Given the description of an element on the screen output the (x, y) to click on. 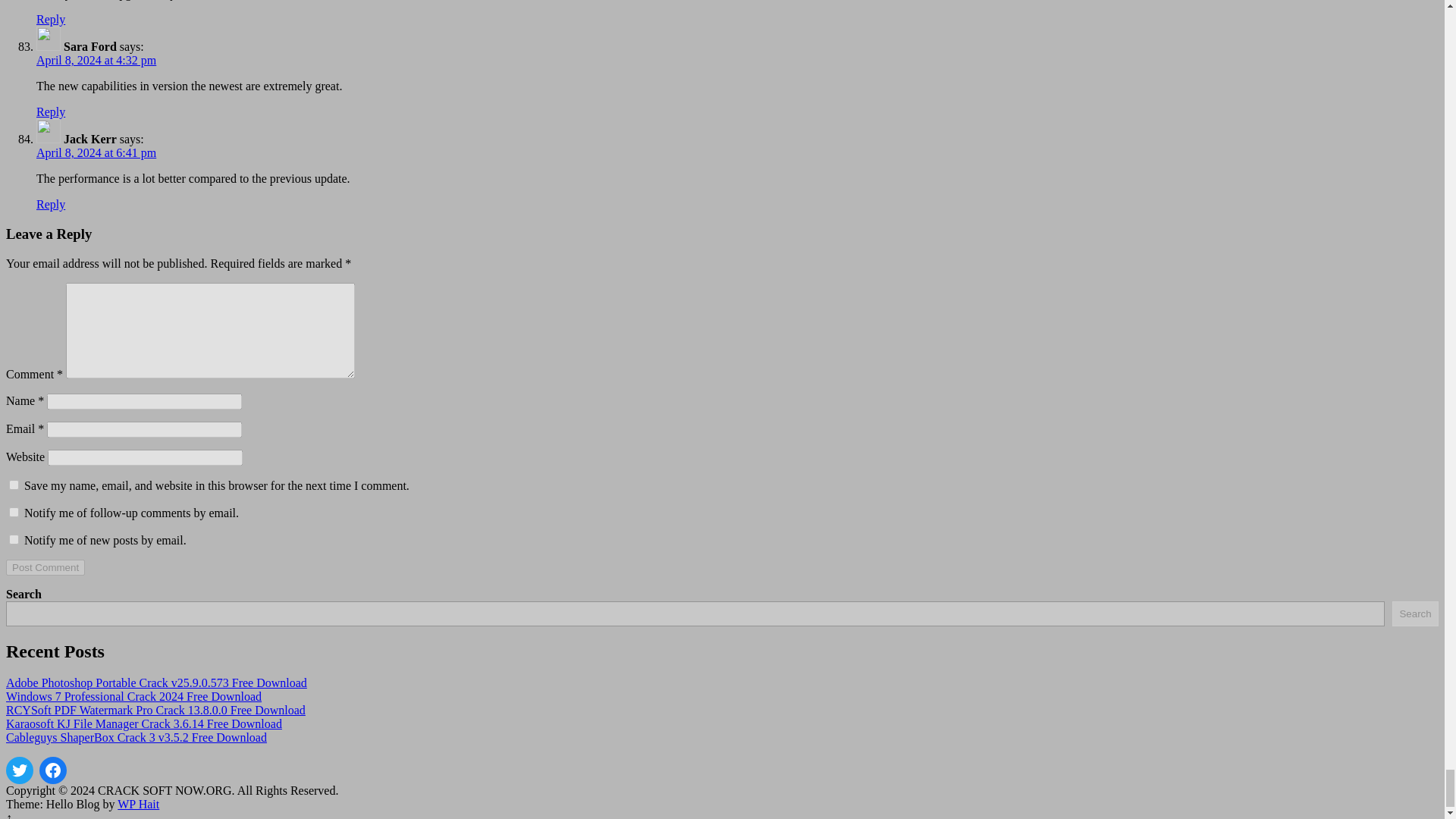
subscribe (13, 539)
yes (13, 484)
Post Comment (44, 567)
subscribe (13, 511)
